Given the description of an element on the screen output the (x, y) to click on. 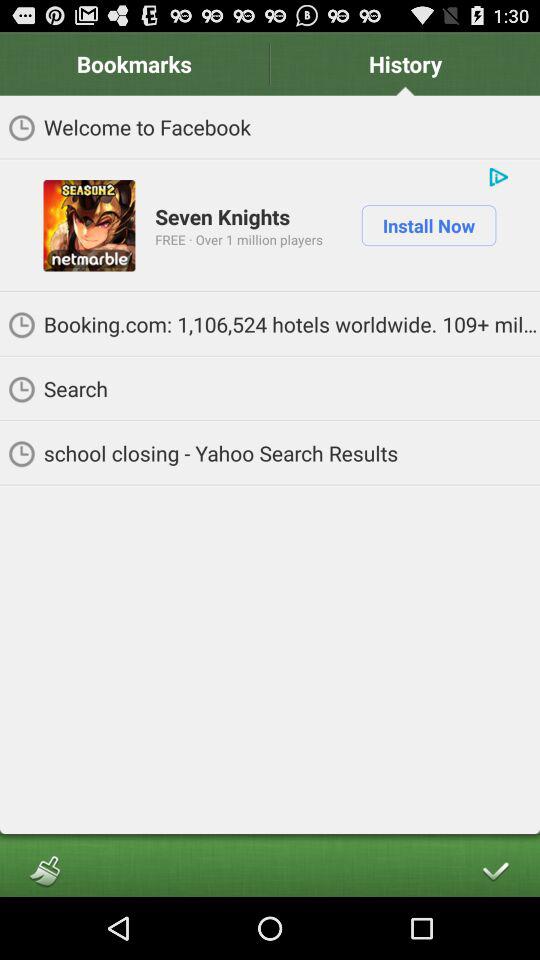
jump to the seven knights icon (222, 216)
